Given the description of an element on the screen output the (x, y) to click on. 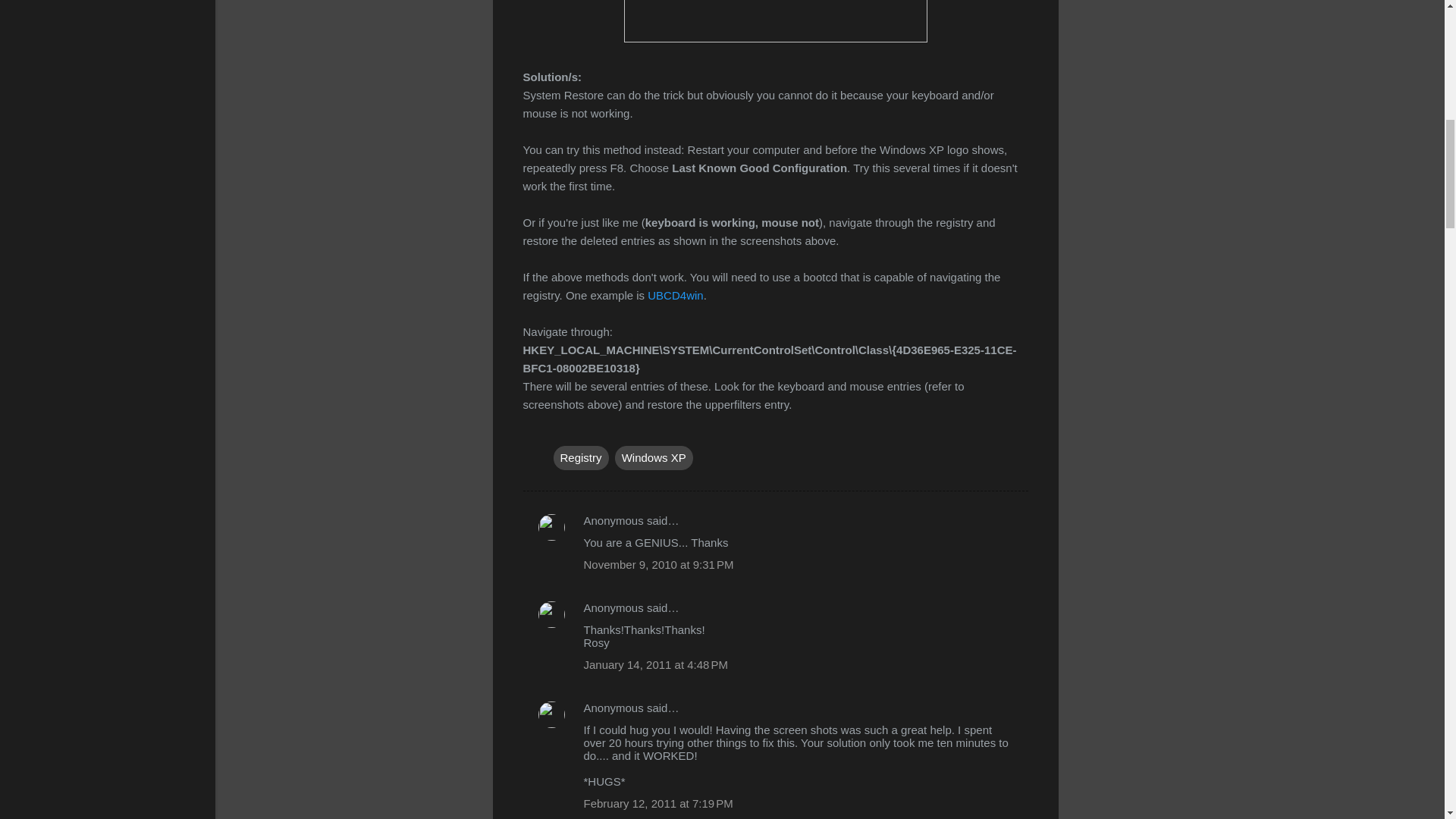
comment permalink (658, 563)
Windows XP (653, 457)
UBCD4win (675, 294)
Registry (580, 457)
